Given the description of an element on the screen output the (x, y) to click on. 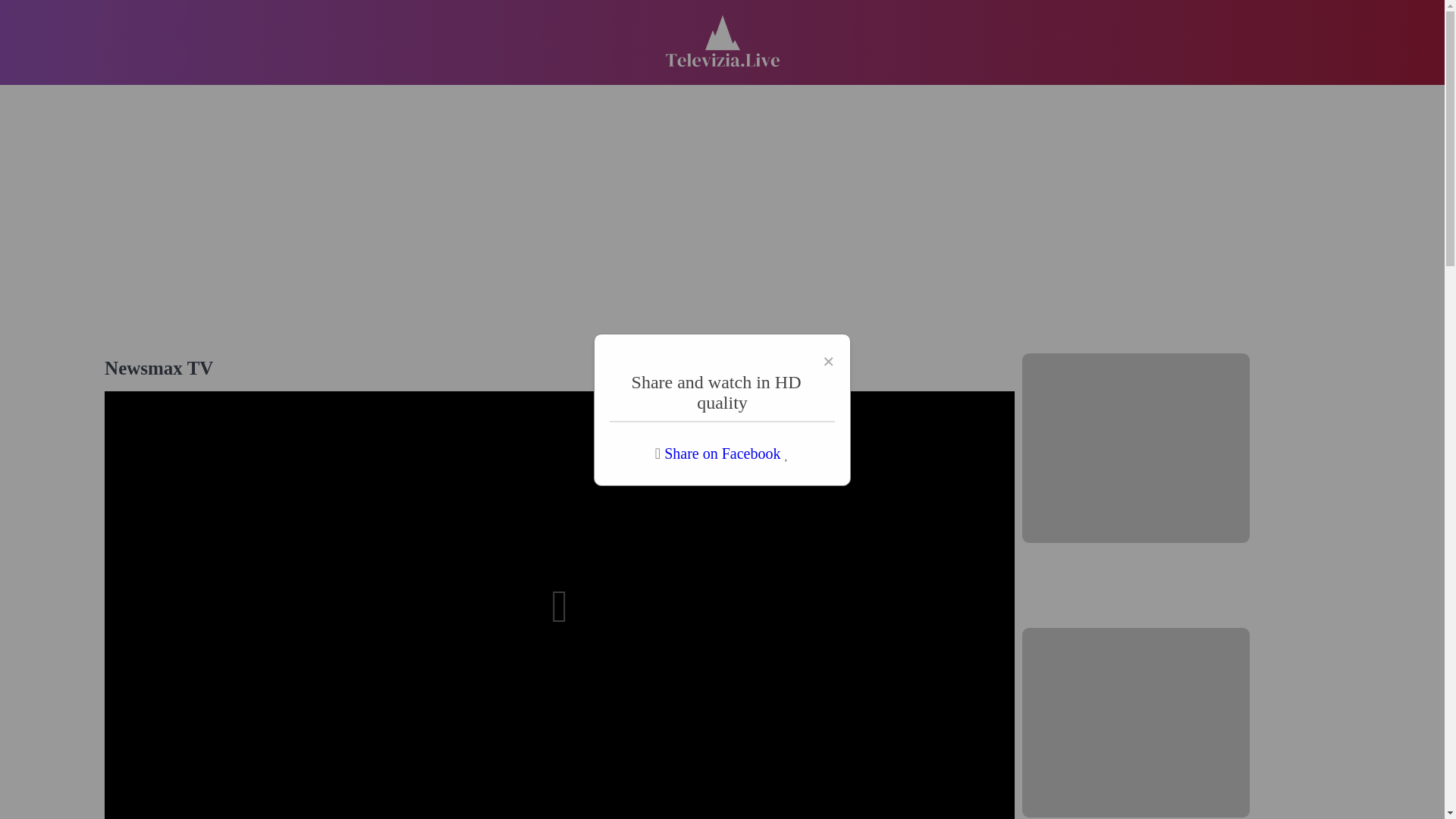
Share on Facebook (722, 452)
